Given the description of an element on the screen output the (x, y) to click on. 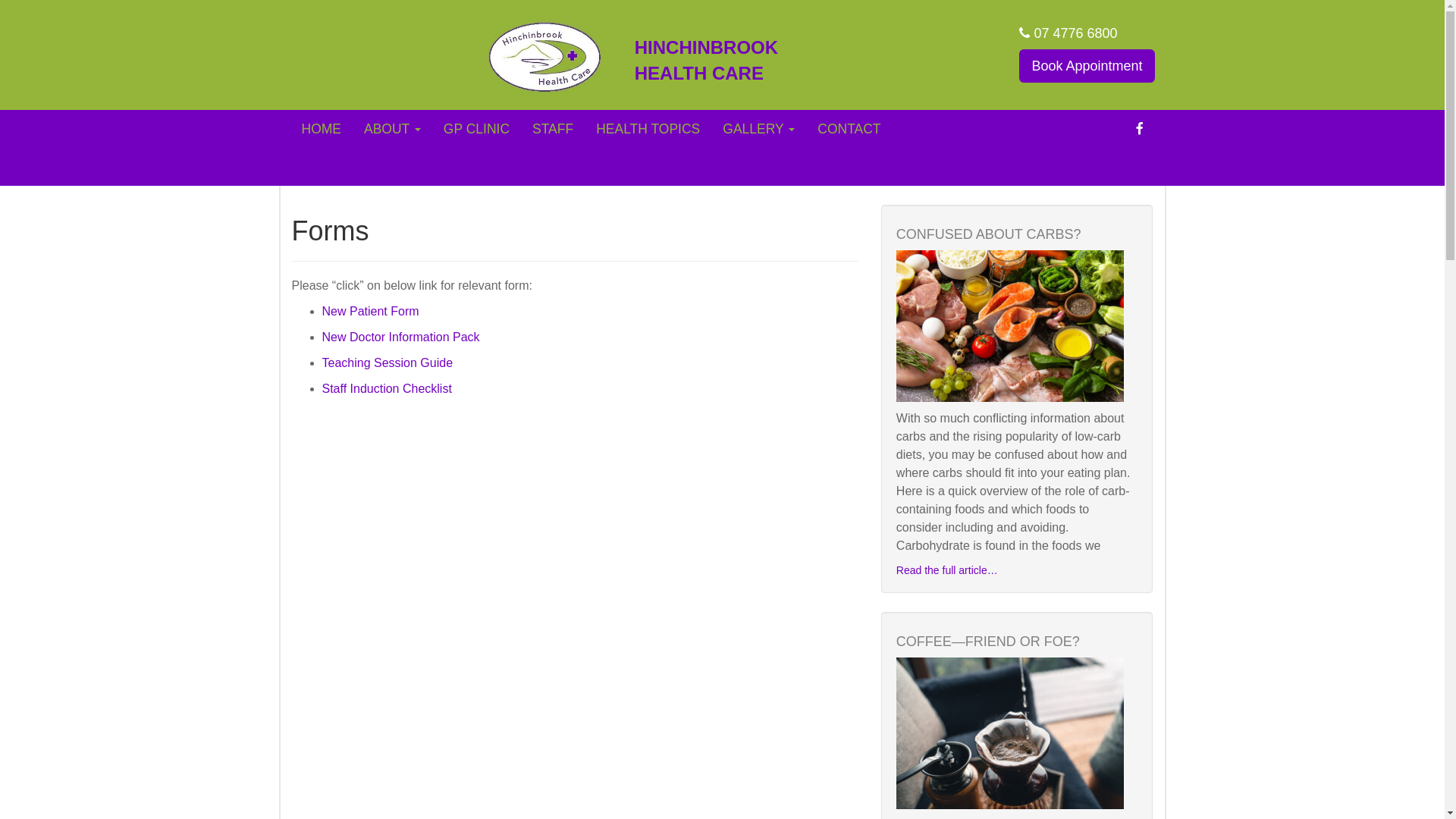
ABOUT Element type: text (392, 128)
CONTACT Element type: text (848, 128)
Book Appointment Element type: text (1086, 65)
HINCHINBROOK HEALTH CARE Element type: text (729, 60)
HOME Element type: text (320, 128)
Teaching Session Guide Element type: text (386, 362)
Staff Induction Checklist Element type: text (386, 388)
STAFF Element type: text (552, 128)
GP CLINIC Element type: text (476, 128)
New Doctor Information Pack Element type: text (400, 336)
New Patient Form Element type: text (369, 310)
GALLERY Element type: text (758, 128)
HEALTH TOPICS Element type: text (647, 128)
